Given the description of an element on the screen output the (x, y) to click on. 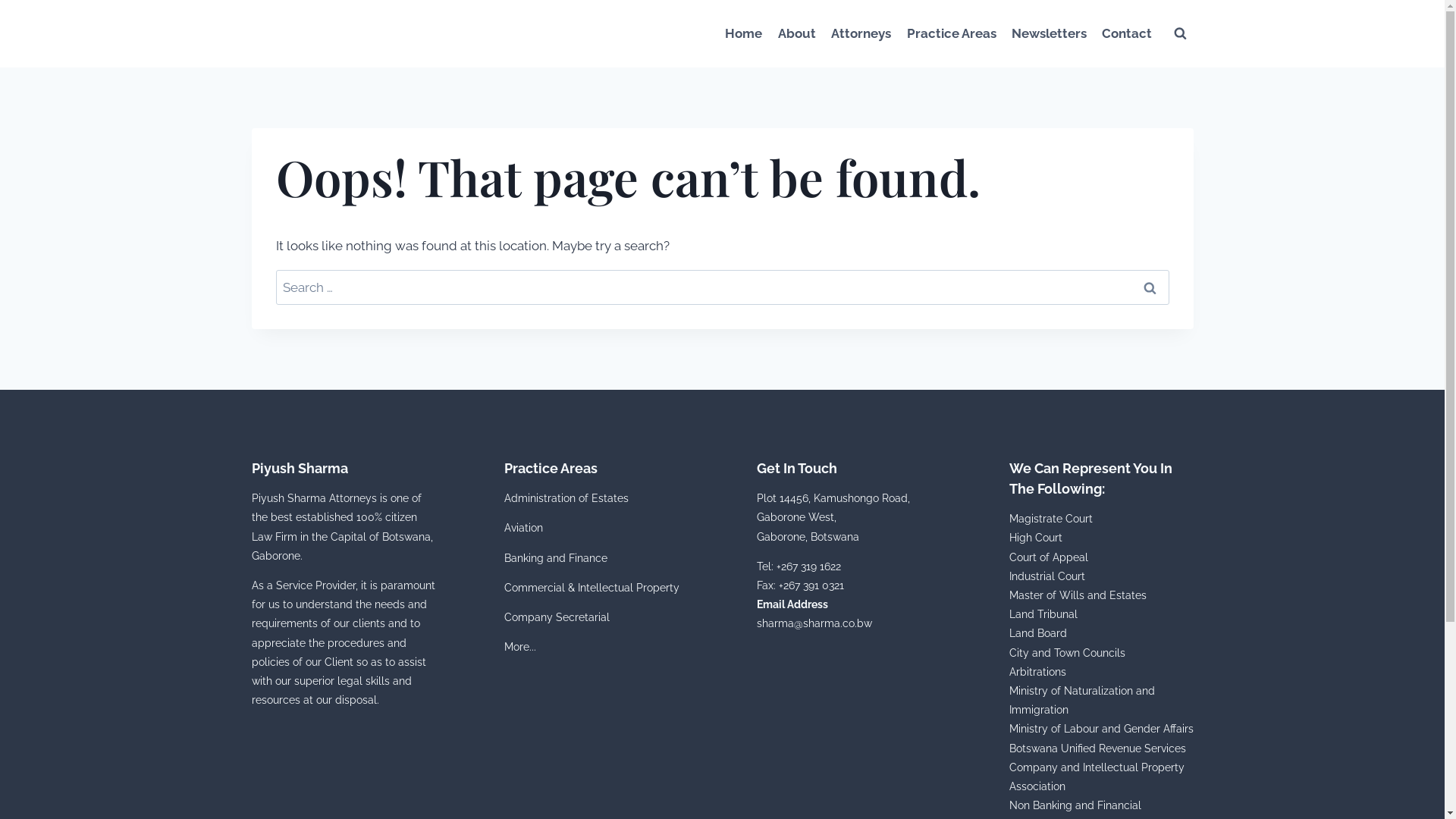
More... Element type: text (519, 646)
Commercial & Intellectual Property Element type: text (590, 587)
Home Element type: text (743, 33)
Practice Areas Element type: text (950, 33)
Attorneys Element type: text (860, 33)
Aviation Element type: text (522, 527)
Banking and Finance Element type: text (554, 558)
sharma@sharma.co.bw Element type: text (814, 623)
Newsletters Element type: text (1049, 33)
Contact Element type: text (1126, 33)
Administration of Estates Element type: text (565, 498)
Search Element type: text (1150, 286)
Company Secretarial Element type: text (555, 617)
About Element type: text (796, 33)
